Given the description of an element on the screen output the (x, y) to click on. 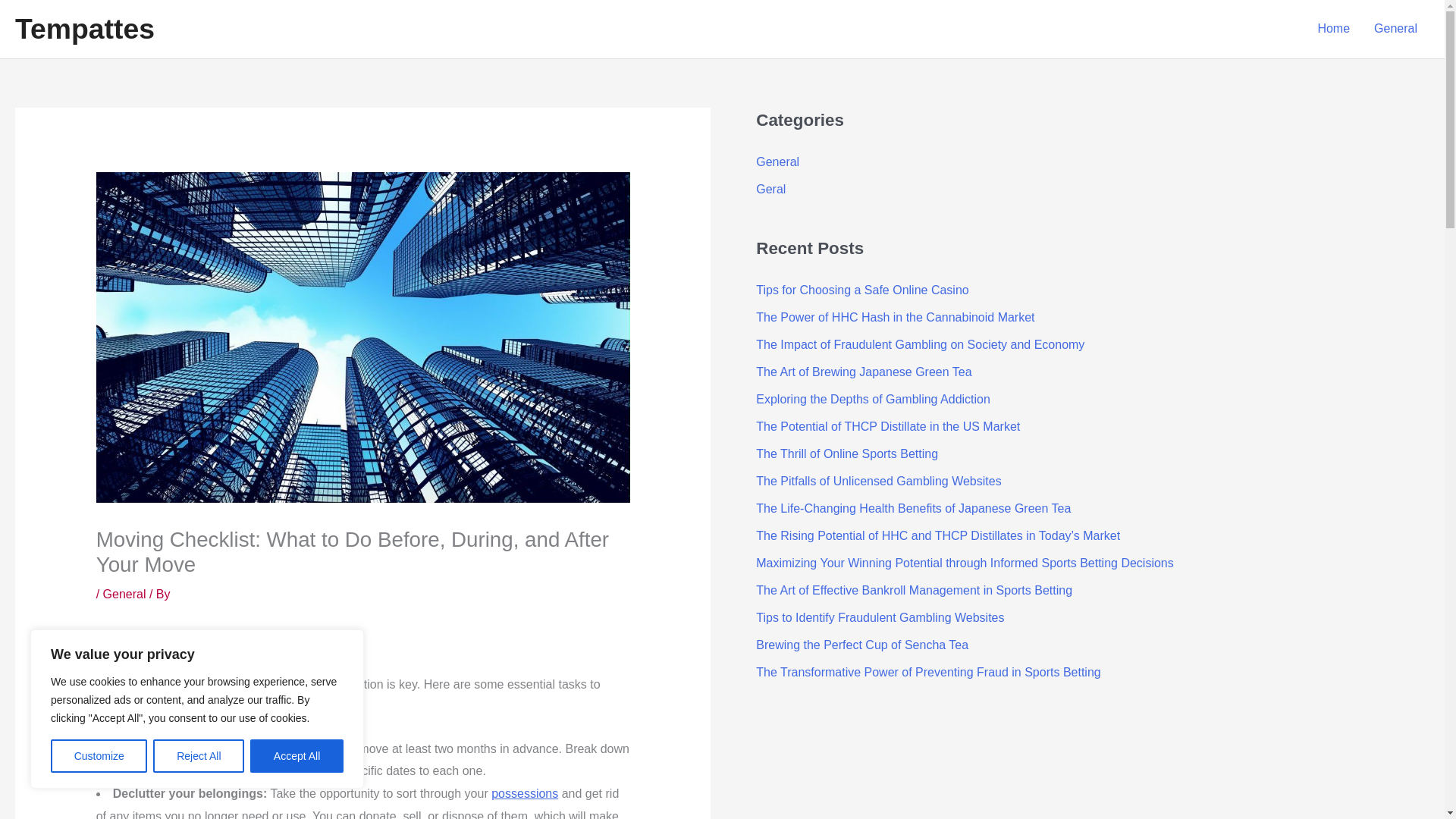
General (1395, 28)
Reject All (198, 756)
General (125, 594)
General (777, 161)
Tempattes (84, 29)
The Power of HHC Hash in the Cannabinoid Market (894, 317)
Home (1332, 28)
Accept All (296, 756)
accomplish (126, 706)
Customize (98, 756)
Geral (770, 188)
Tips for Choosing a Safe Online Casino (861, 289)
possessions (524, 793)
